Given the description of an element on the screen output the (x, y) to click on. 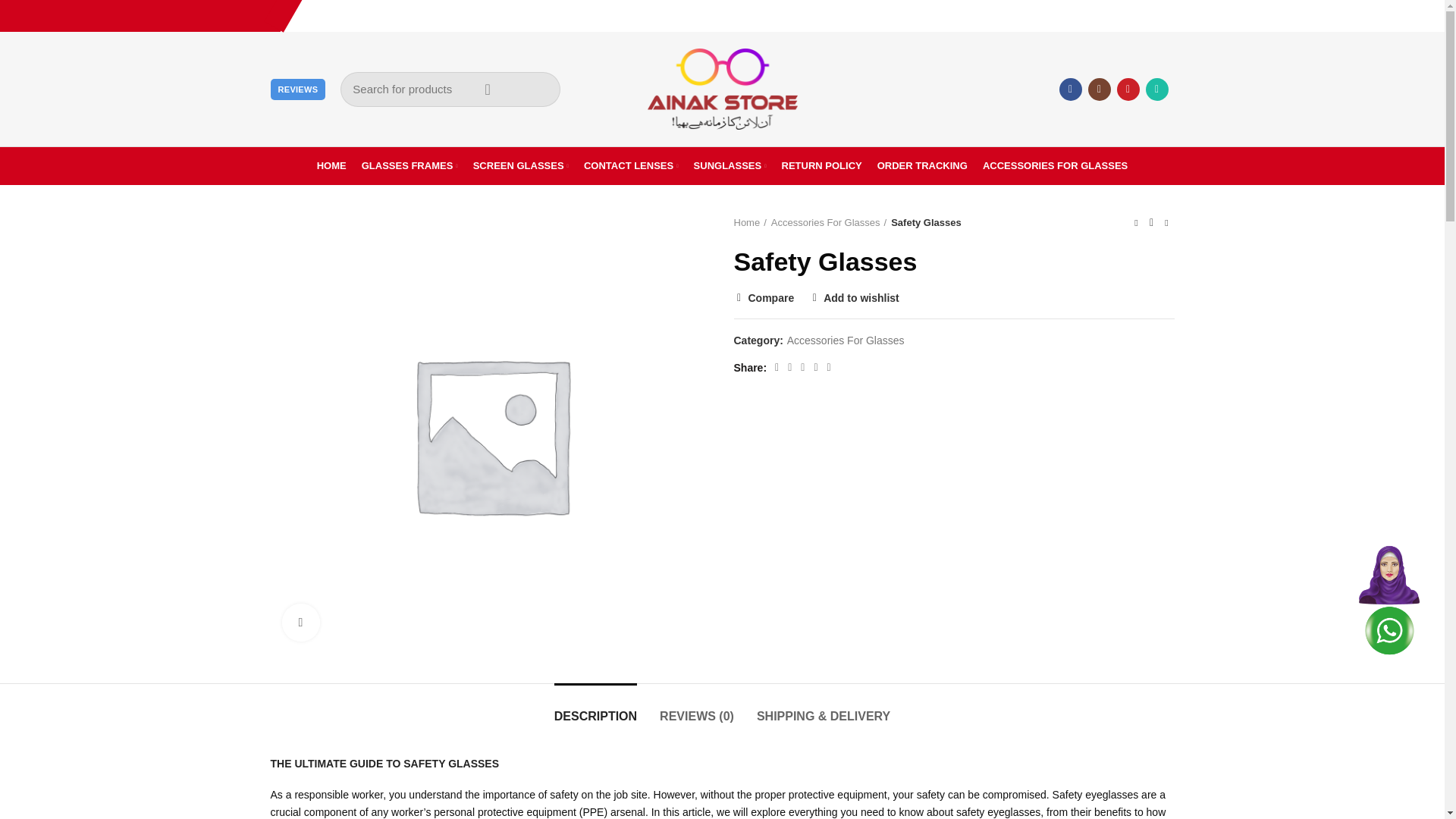
RETURN POLICY (821, 165)
Search for products (450, 88)
HOME (330, 165)
REVIEWS (296, 88)
SUNGLASSES (729, 165)
SEARCH (486, 88)
SCREEN GLASSES (520, 165)
CONTACT LENSES (630, 165)
GLASSES FRAMES (409, 165)
